Given the description of an element on the screen output the (x, y) to click on. 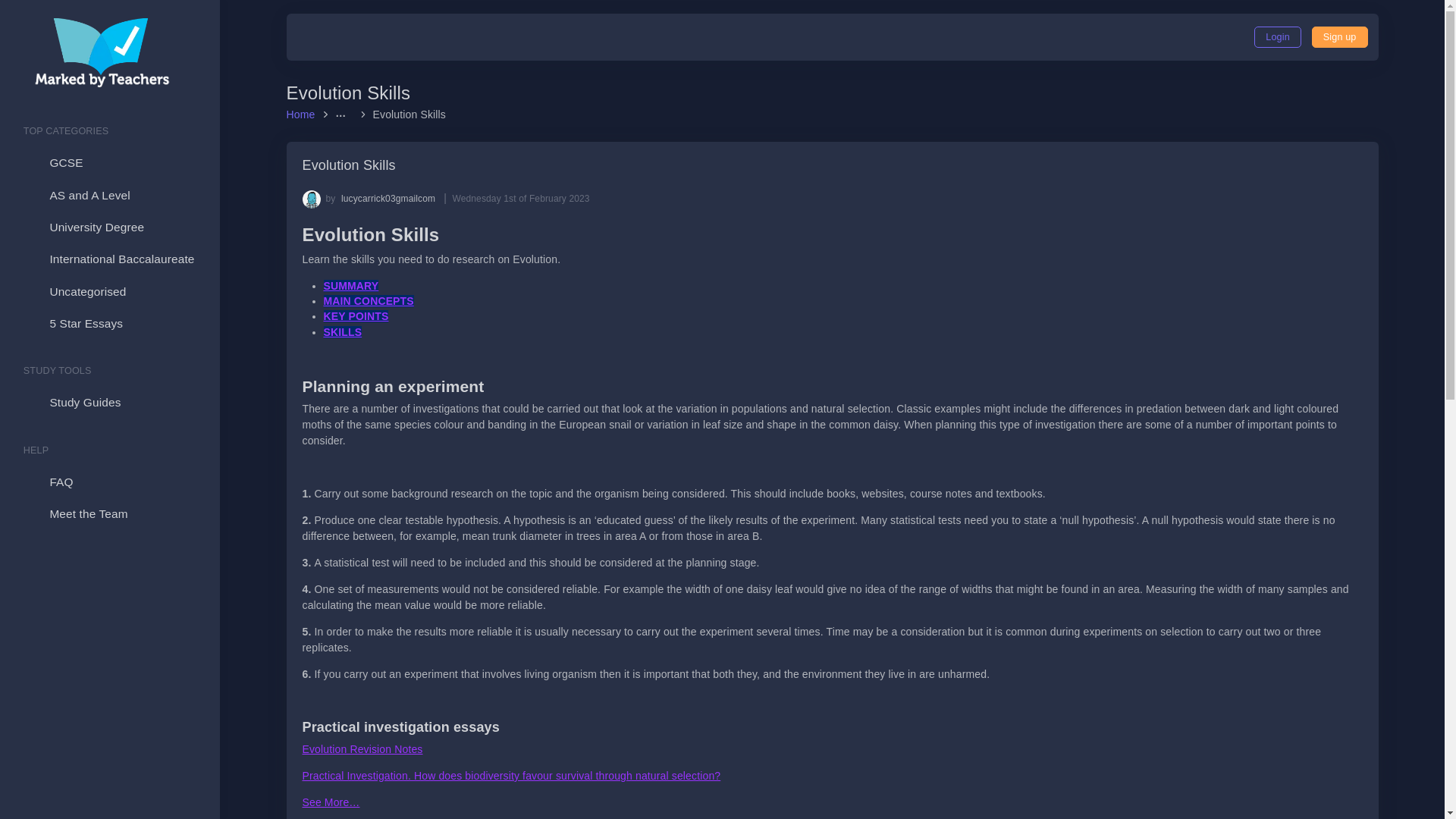
Study Guides (109, 402)
AS and A Level (109, 195)
Home (302, 114)
Sign up (1339, 36)
FAQ (109, 481)
Uncategorised (109, 291)
Study Guides (109, 402)
International Baccalaureate (109, 259)
Login (1277, 36)
